Given the description of an element on the screen output the (x, y) to click on. 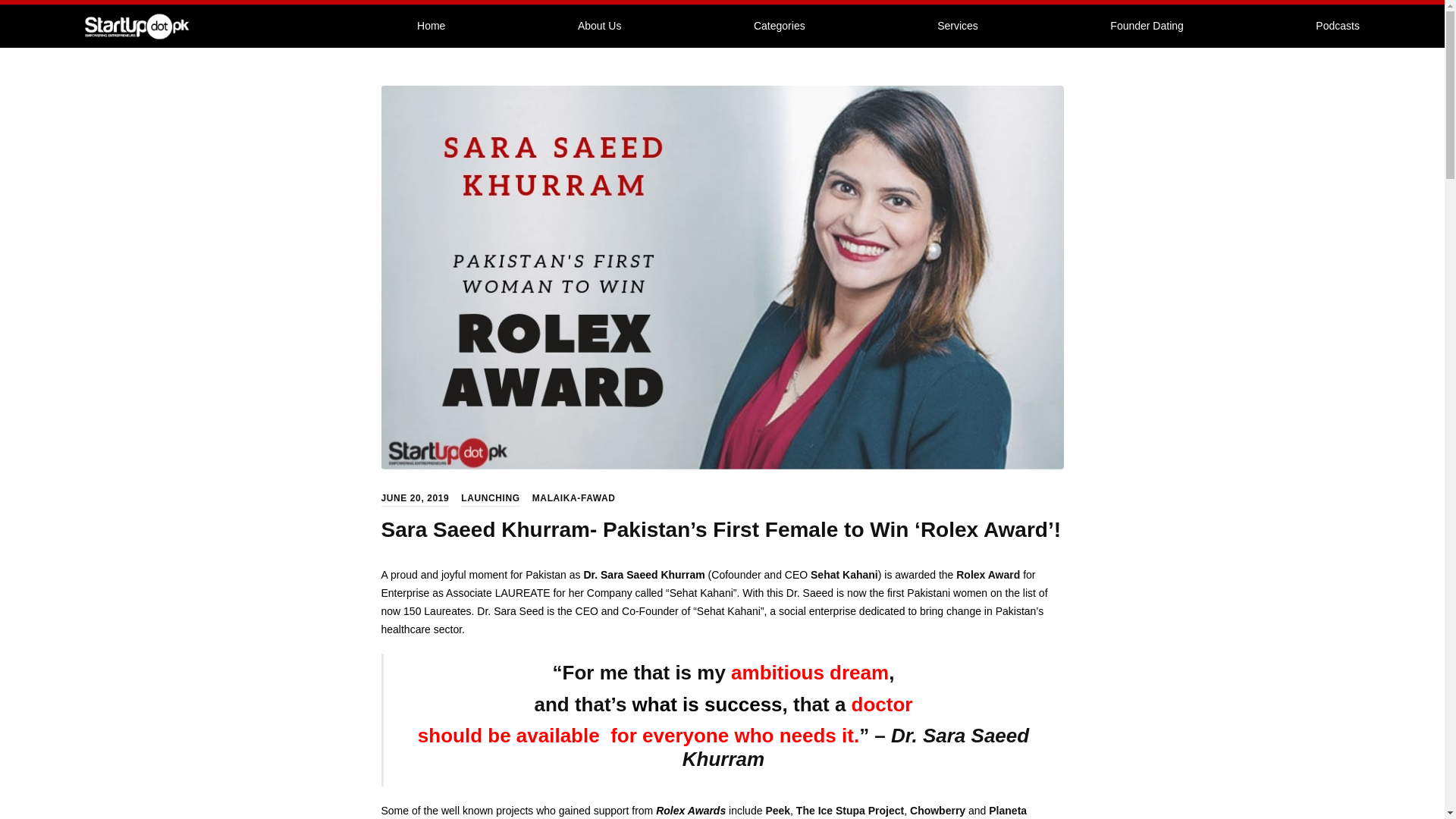
Founder Dating (1146, 25)
Podcasts (1337, 25)
Home (430, 25)
Services (957, 25)
Categories (778, 25)
About Us (599, 25)
